Given the description of an element on the screen output the (x, y) to click on. 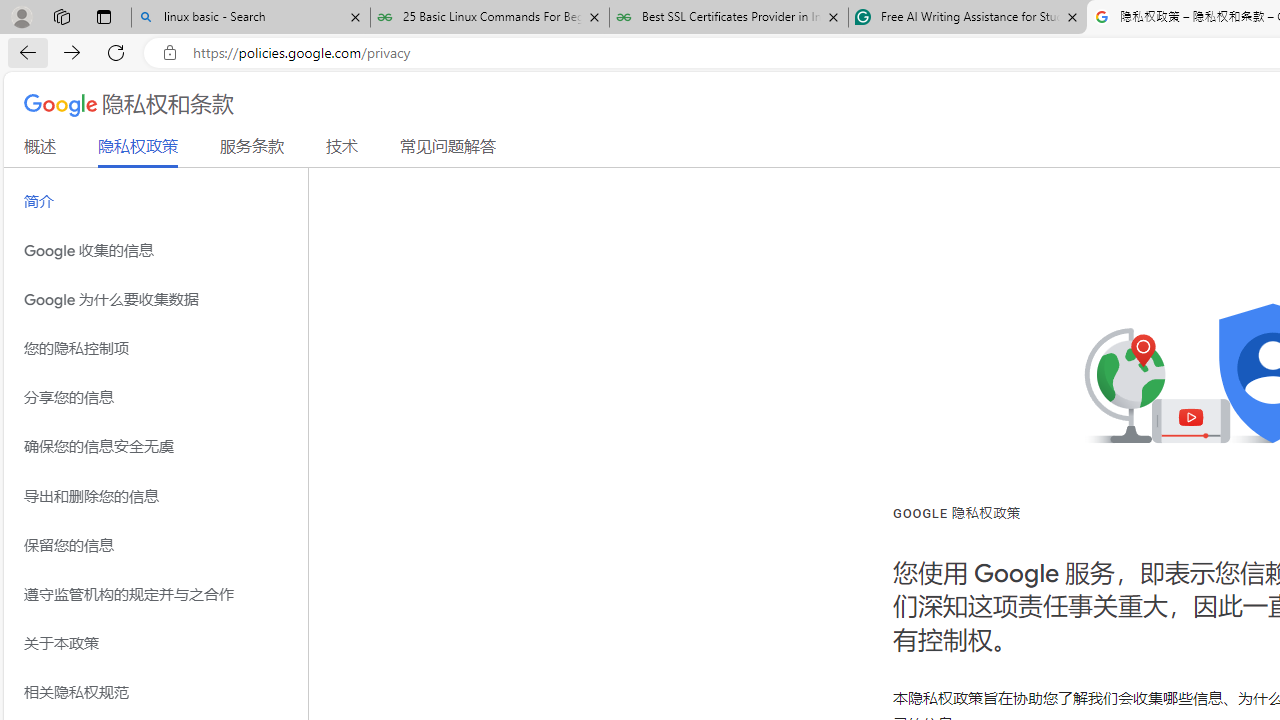
View site information (169, 53)
linux basic - Search (250, 17)
Personal Profile (21, 16)
25 Basic Linux Commands For Beginners - GeeksforGeeks (490, 17)
